Given the description of an element on the screen output the (x, y) to click on. 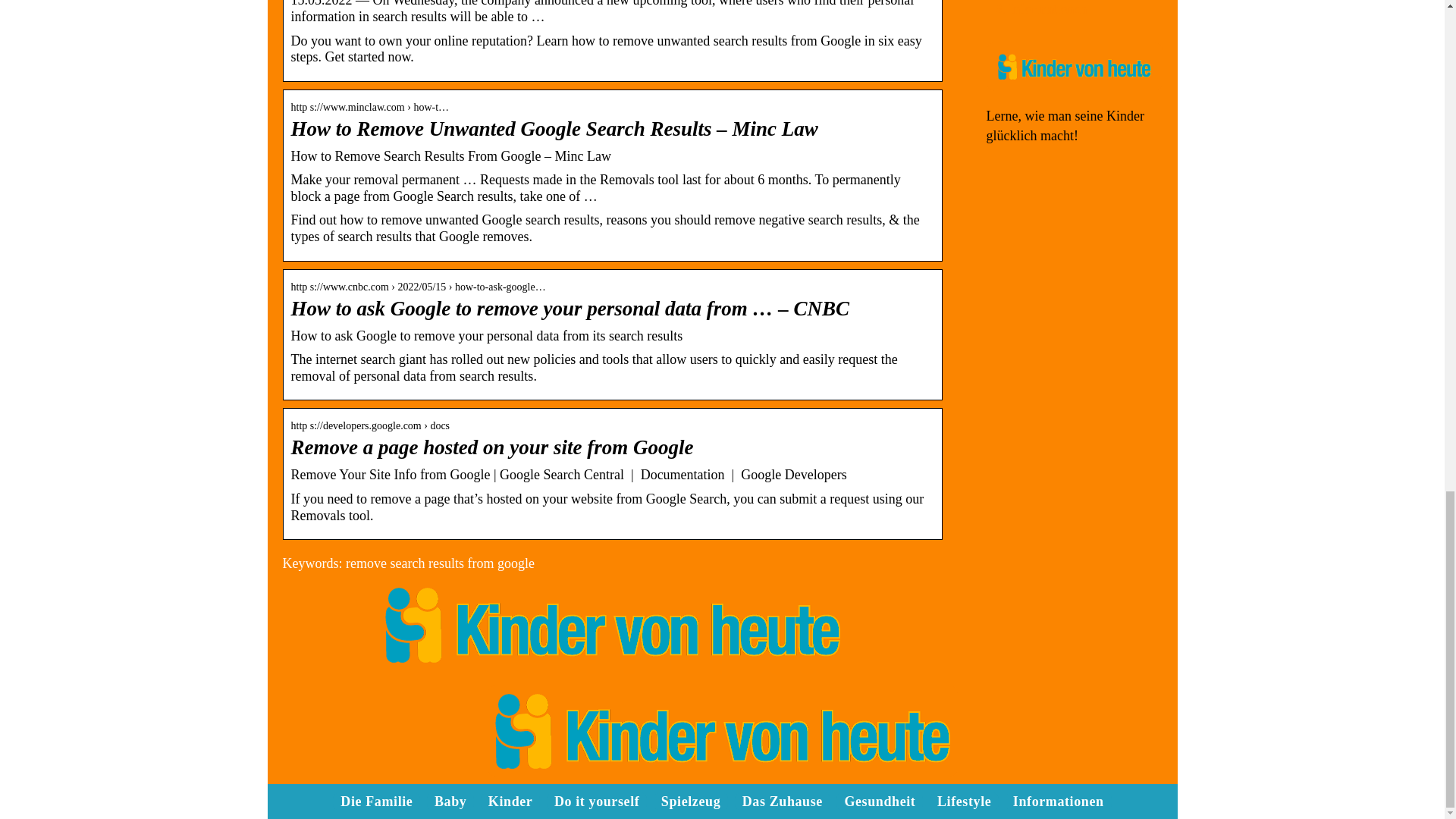
Informationen (1047, 8)
Das Zuhause (782, 801)
Kinder (509, 801)
Die Familie (376, 801)
Do it yourself (596, 801)
Spielzeug (690, 801)
Gesundheit (879, 801)
Baby (449, 801)
